Given the description of an element on the screen output the (x, y) to click on. 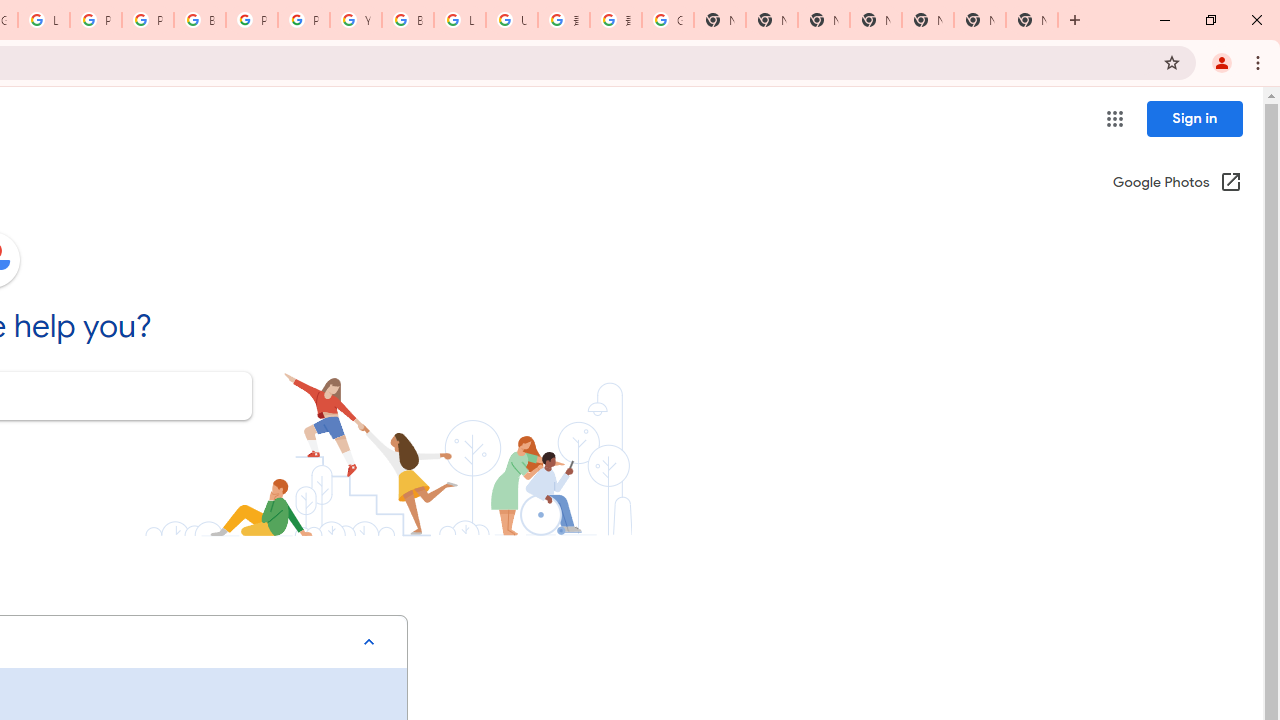
Google Photos (Open in a new window) (1177, 183)
